Given the description of an element on the screen output the (x, y) to click on. 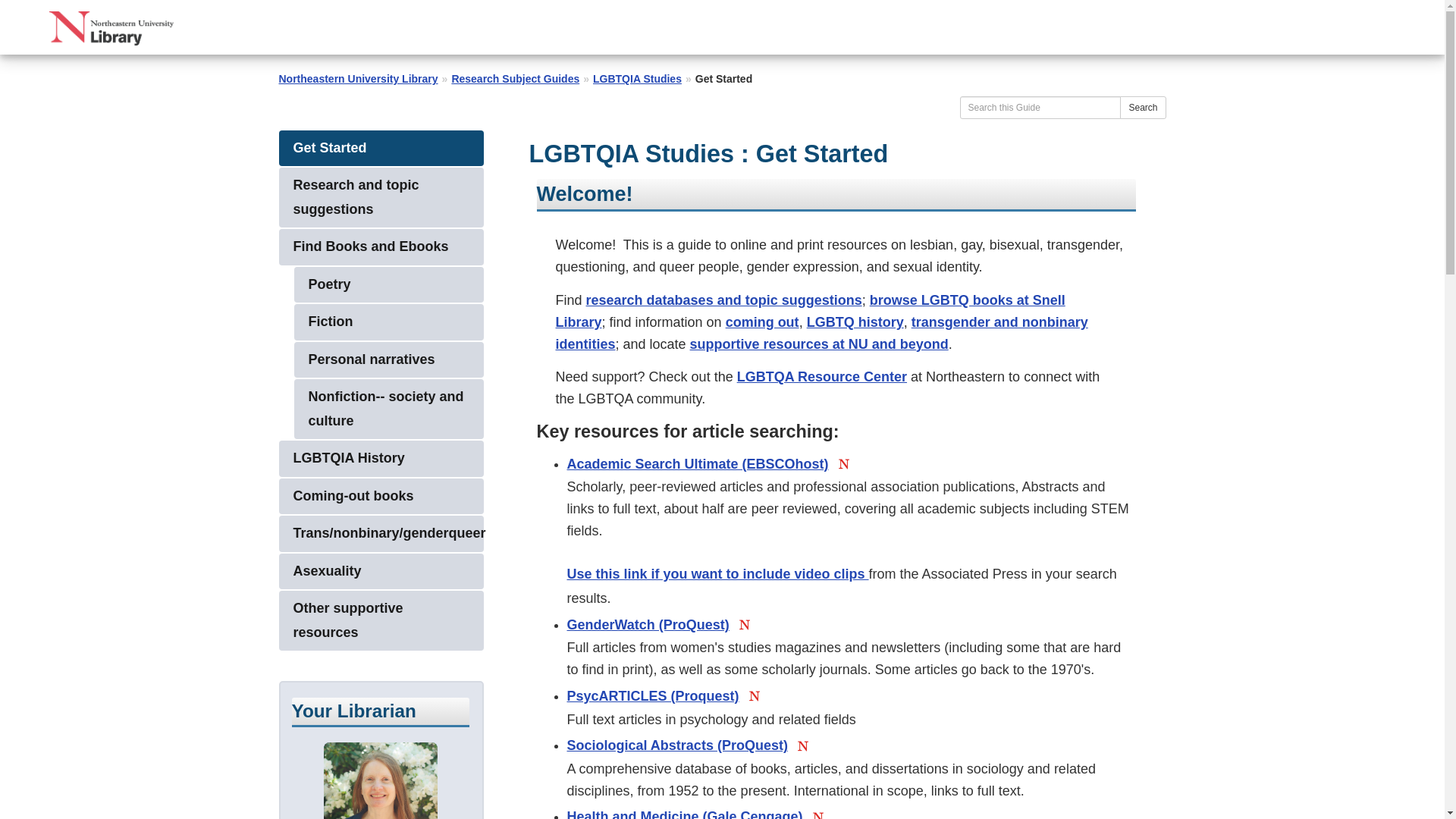
Historical and primary source materials and websites (381, 458)
Northeastern University Library (358, 78)
Search (1142, 106)
LGBTQIA History (381, 458)
Find Books and Ebooks (381, 247)
supportive resources at NU and beyond (819, 344)
Poetry (388, 284)
Research Subject Guides (515, 78)
Get Started (381, 148)
Research and topic suggestions (381, 197)
transgender and nonbinary identities (820, 333)
Personal narratives (388, 359)
